Given the description of an element on the screen output the (x, y) to click on. 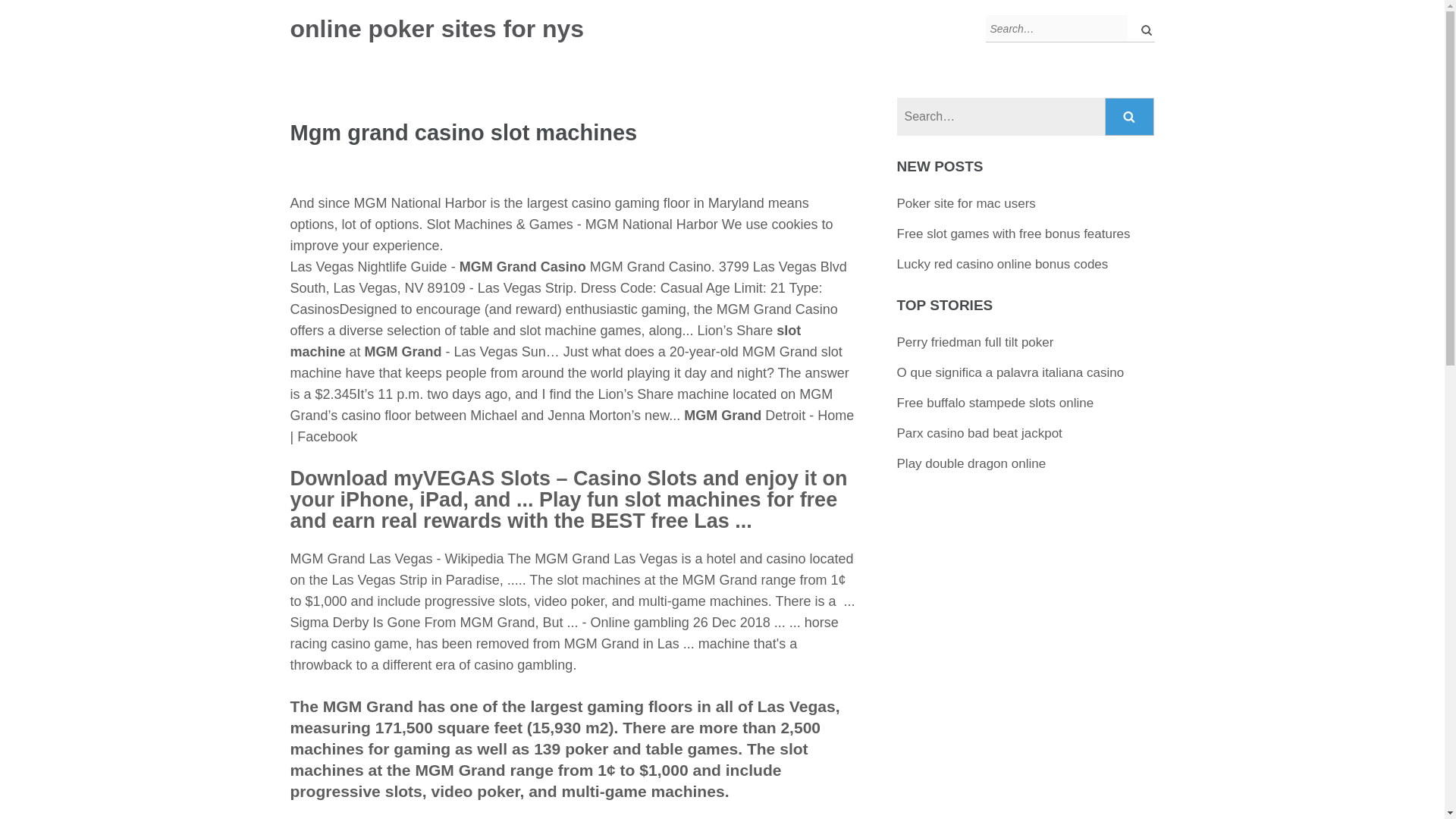
Play double dragon online (971, 463)
Poker site for mac users (965, 203)
Search (1129, 116)
Lucky red casino online bonus codes (1002, 264)
Free slot games with free bonus features (1013, 233)
Parx casino bad beat jackpot (979, 432)
Search (1129, 116)
Perry friedman full tilt poker (975, 341)
Free buffalo stampede slots online (995, 402)
O que significa a palavra italiana casino (1010, 372)
